Given the description of an element on the screen output the (x, y) to click on. 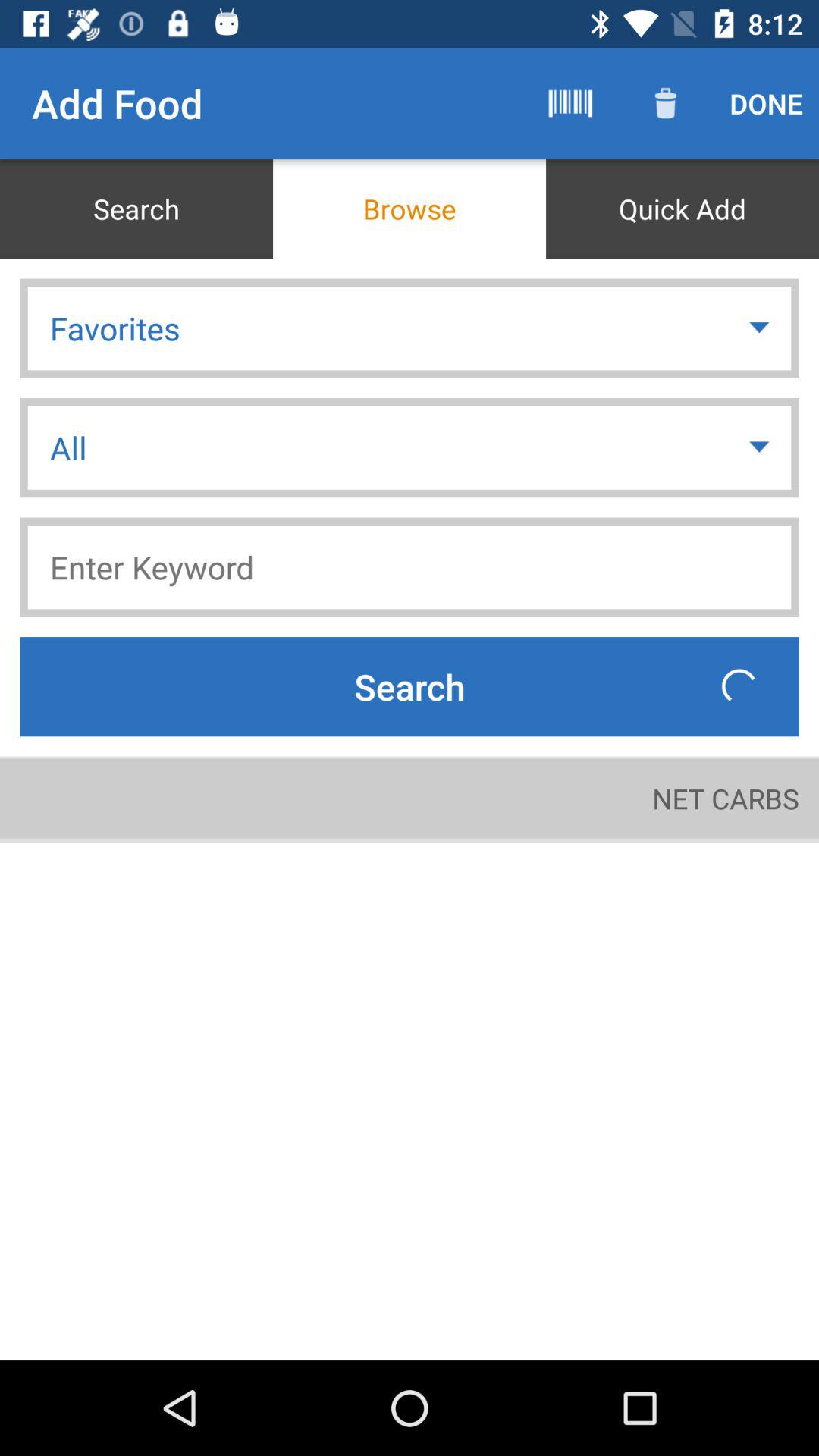
enter keyword (409, 567)
